Given the description of an element on the screen output the (x, y) to click on. 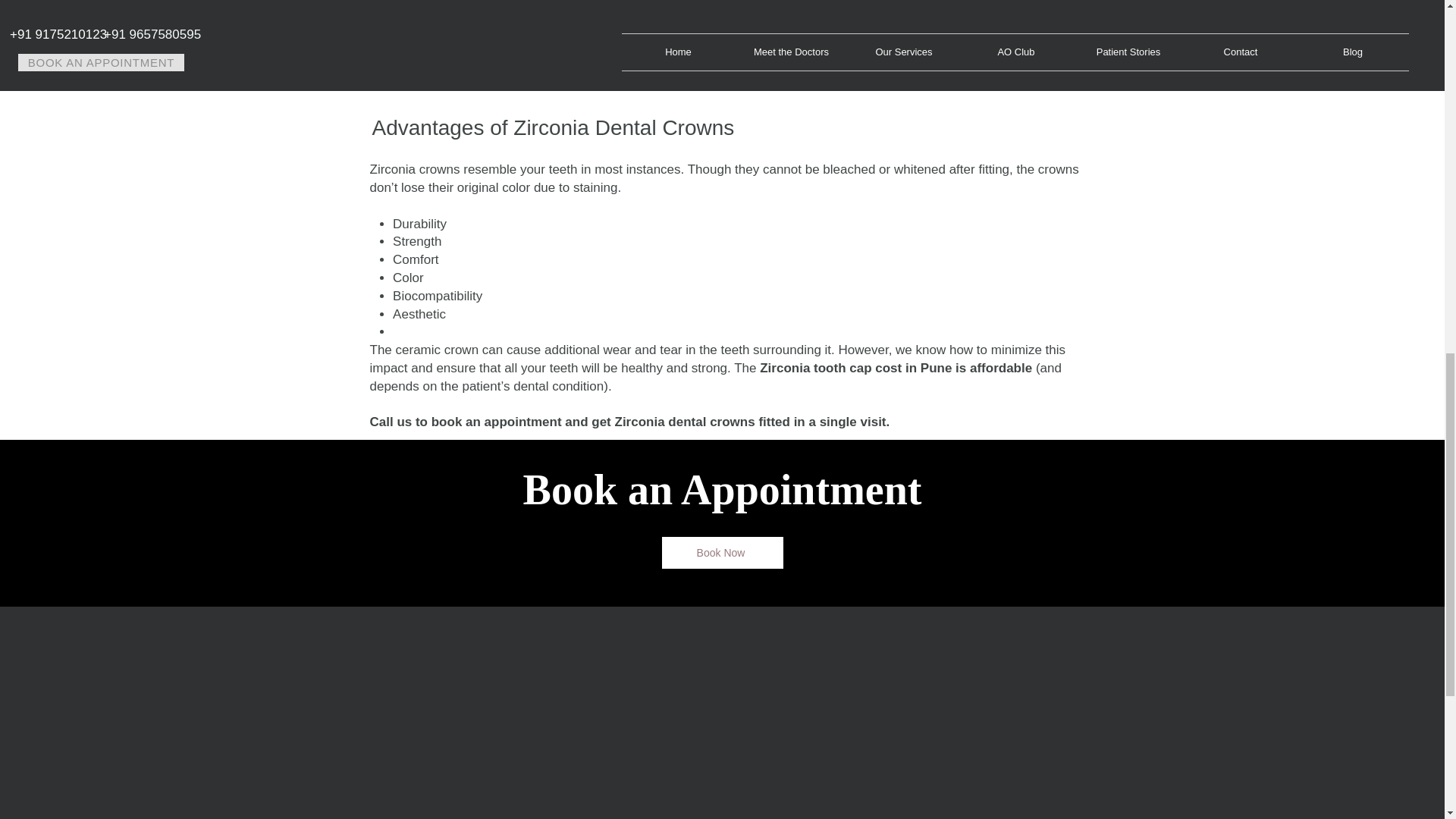
Call Us (722, 19)
Book Now (722, 552)
